Given the description of an element on the screen output the (x, y) to click on. 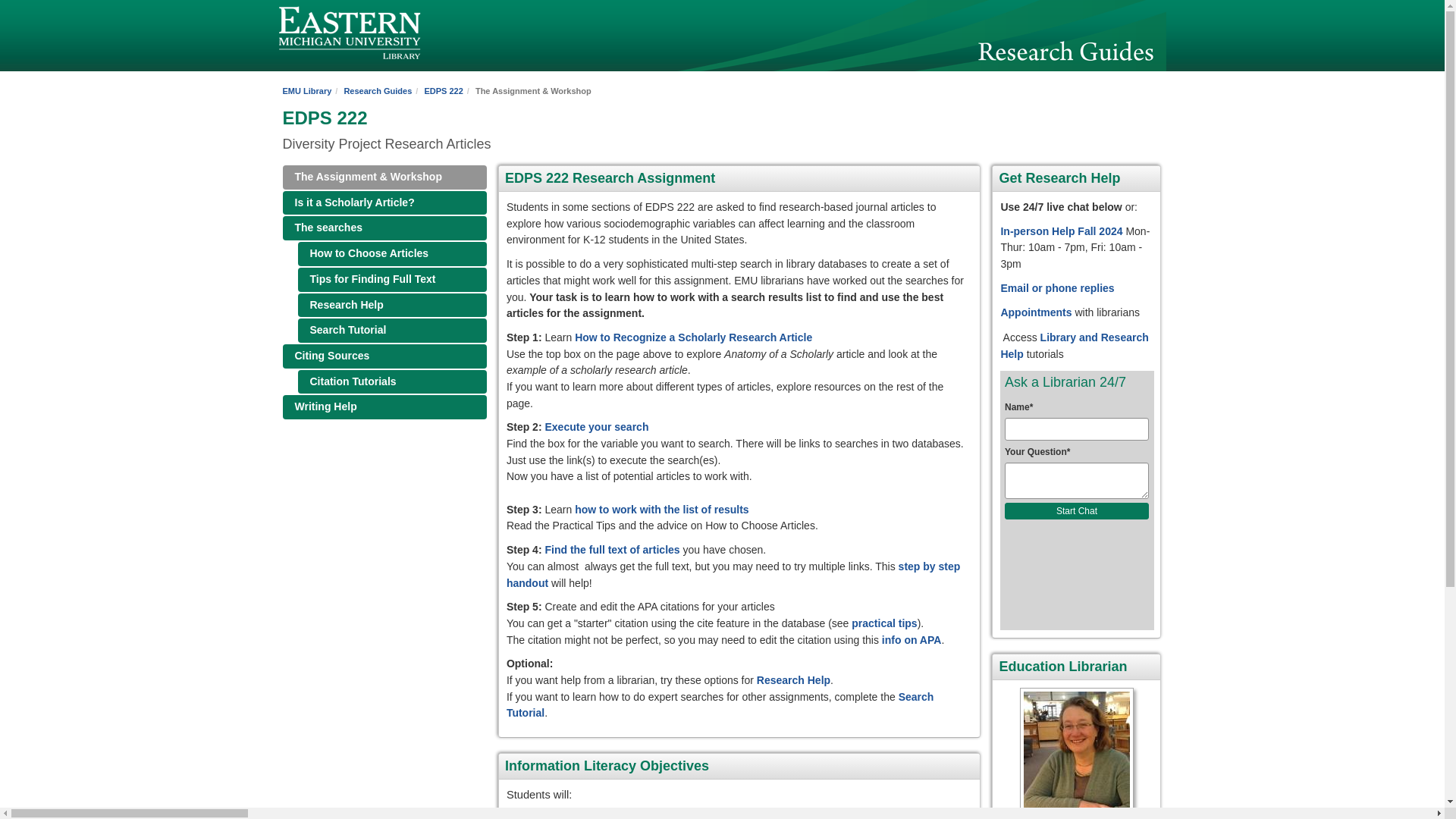
EMU Library (306, 90)
Search Tutorial (719, 705)
Writing Help (384, 406)
Kate Pittsley-Sousa (1075, 753)
EDPS 222 (443, 90)
Search Tutorial (391, 330)
practical tips (884, 623)
Find the full text of articles (611, 549)
step by step handout (732, 574)
How to Choose Articles (391, 253)
